Given the description of an element on the screen output the (x, y) to click on. 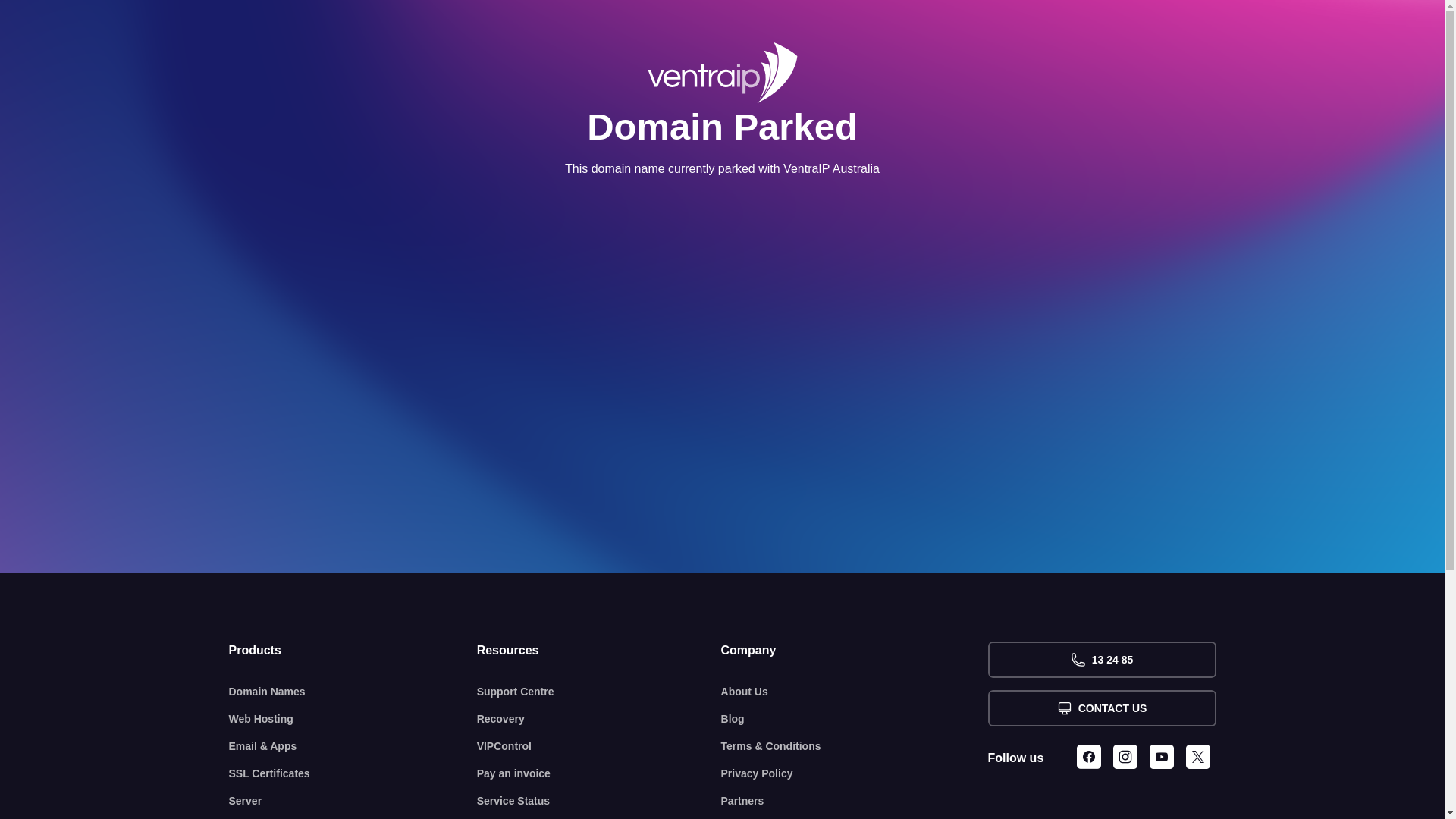
Service Status Element type: text (598, 800)
Recovery Element type: text (598, 718)
Support Centre Element type: text (598, 691)
13 24 85 Element type: text (1101, 659)
Blog Element type: text (854, 718)
Terms & Conditions Element type: text (854, 745)
Pay an invoice Element type: text (598, 773)
Domain Names Element type: text (352, 691)
SSL Certificates Element type: text (352, 773)
Privacy Policy Element type: text (854, 773)
Web Hosting Element type: text (352, 718)
CONTACT US Element type: text (1101, 708)
Server Element type: text (352, 800)
VIPControl Element type: text (598, 745)
About Us Element type: text (854, 691)
Email & Apps Element type: text (352, 745)
Partners Element type: text (854, 800)
